Given the description of an element on the screen output the (x, y) to click on. 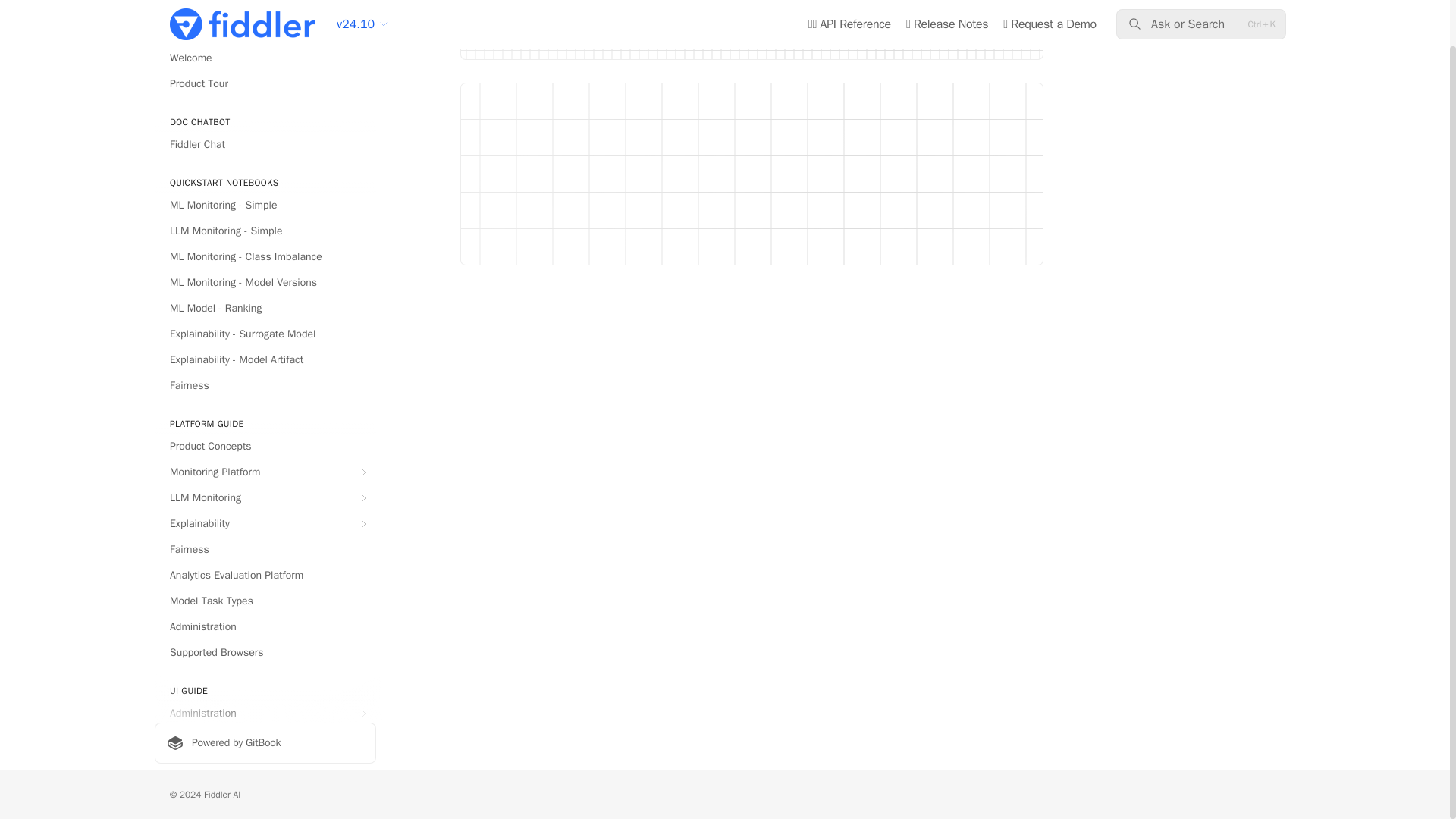
Explainability - Model Artifact (264, 360)
Fiddler Chat (264, 144)
ML Monitoring - Simple (264, 205)
ML Monitoring - Model Versions (264, 282)
Monitoring Platform (264, 472)
Product Concepts (264, 446)
ML Monitoring - Class Imbalance (264, 256)
Welcome (264, 57)
Explainability - Surrogate Model (264, 334)
LLM Monitoring (264, 498)
Product Tour (264, 84)
LLM Monitoring - Simple (264, 231)
ML Model - Ranking (264, 308)
Fairness (264, 385)
